Given the description of an element on the screen output the (x, y) to click on. 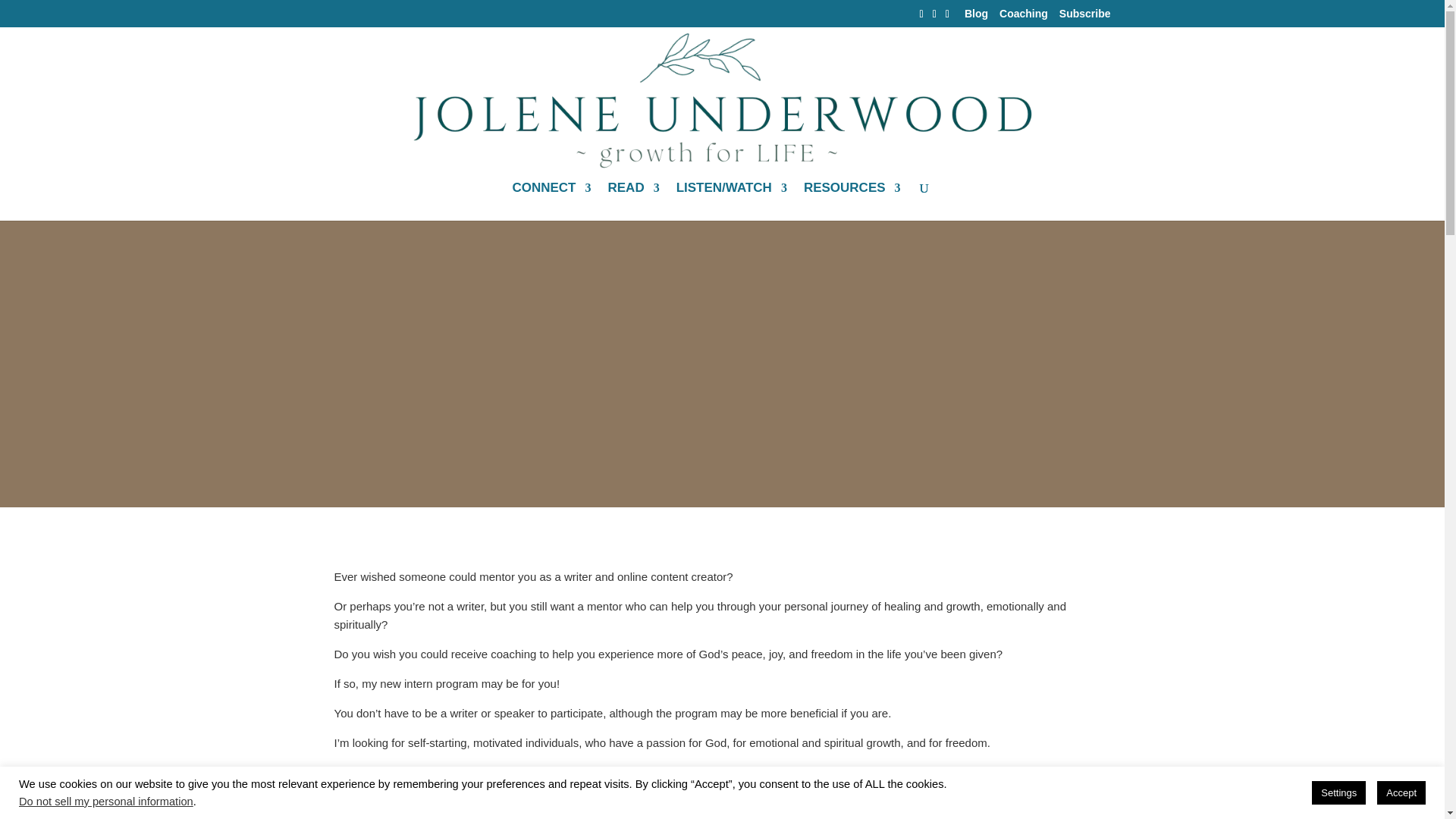
RESOURCES (852, 201)
CONNECT (551, 201)
Subscribe (1084, 16)
Coaching (1023, 16)
Blog (975, 16)
READ (633, 201)
